Given the description of an element on the screen output the (x, y) to click on. 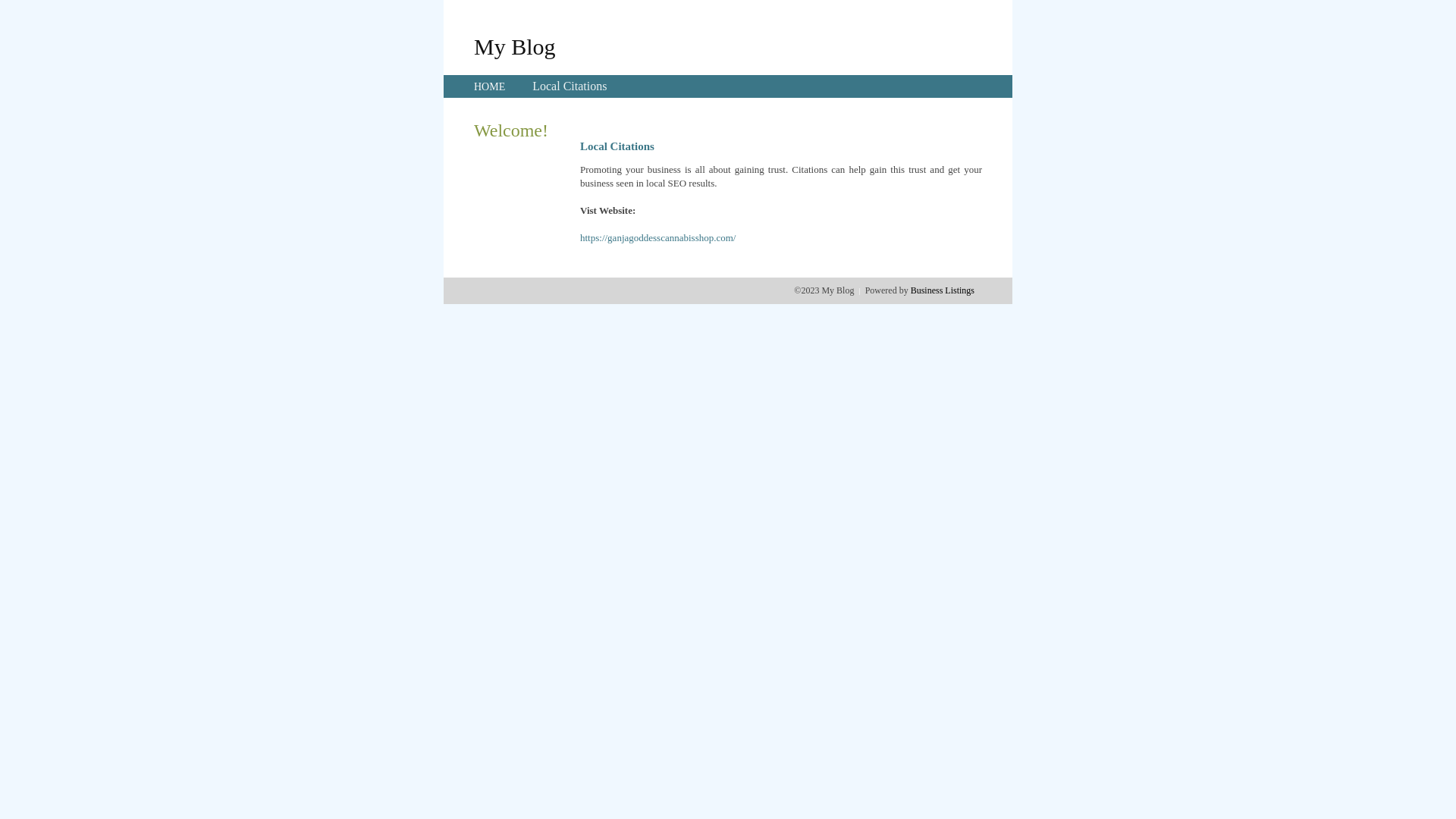
Business Listings Element type: text (942, 290)
My Blog Element type: text (514, 46)
HOME Element type: text (489, 86)
Local Citations Element type: text (569, 85)
https://ganjagoddesscannabisshop.com/ Element type: text (657, 237)
